Given the description of an element on the screen output the (x, y) to click on. 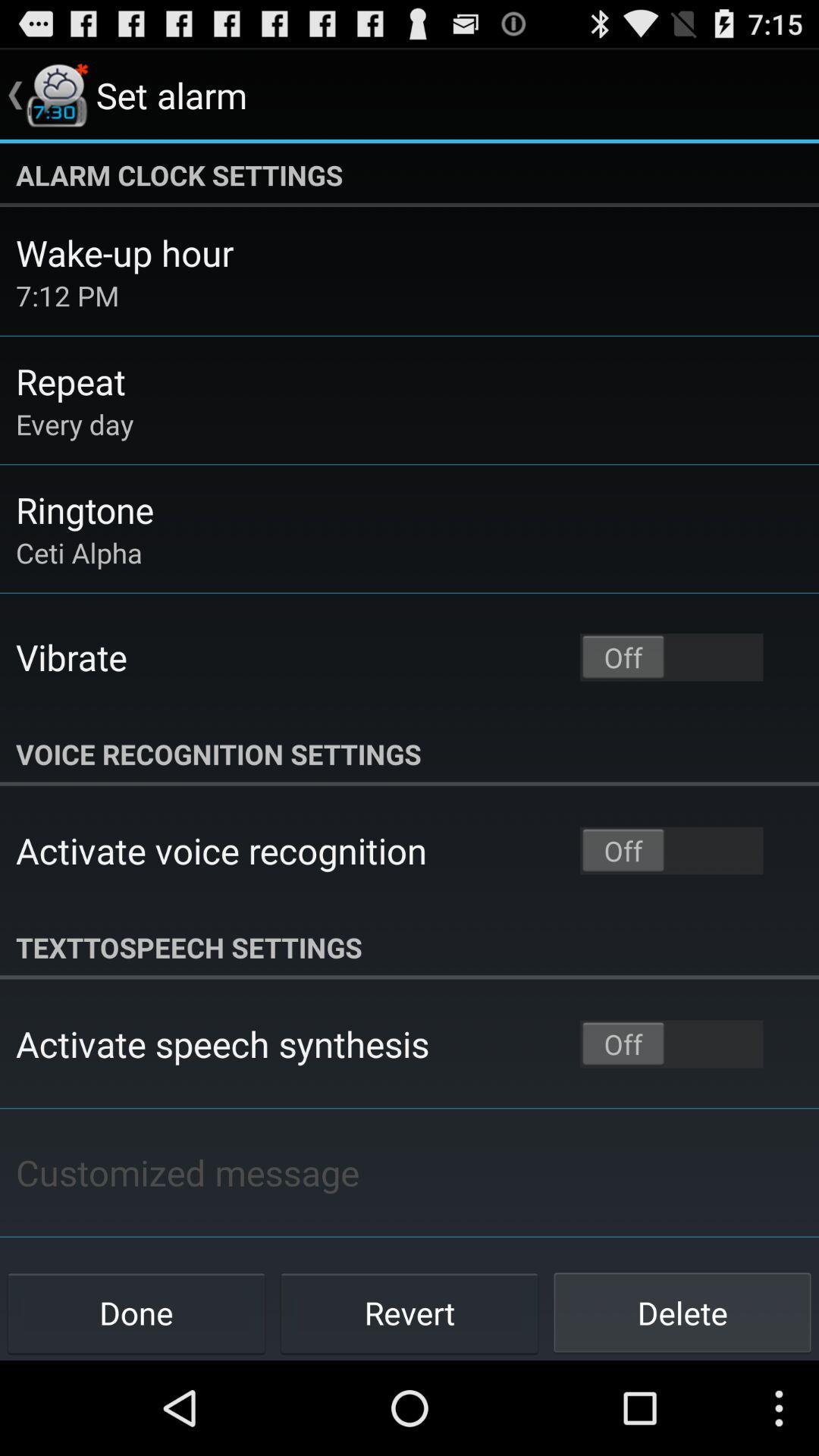
choose app below repeat item (74, 424)
